Given the description of an element on the screen output the (x, y) to click on. 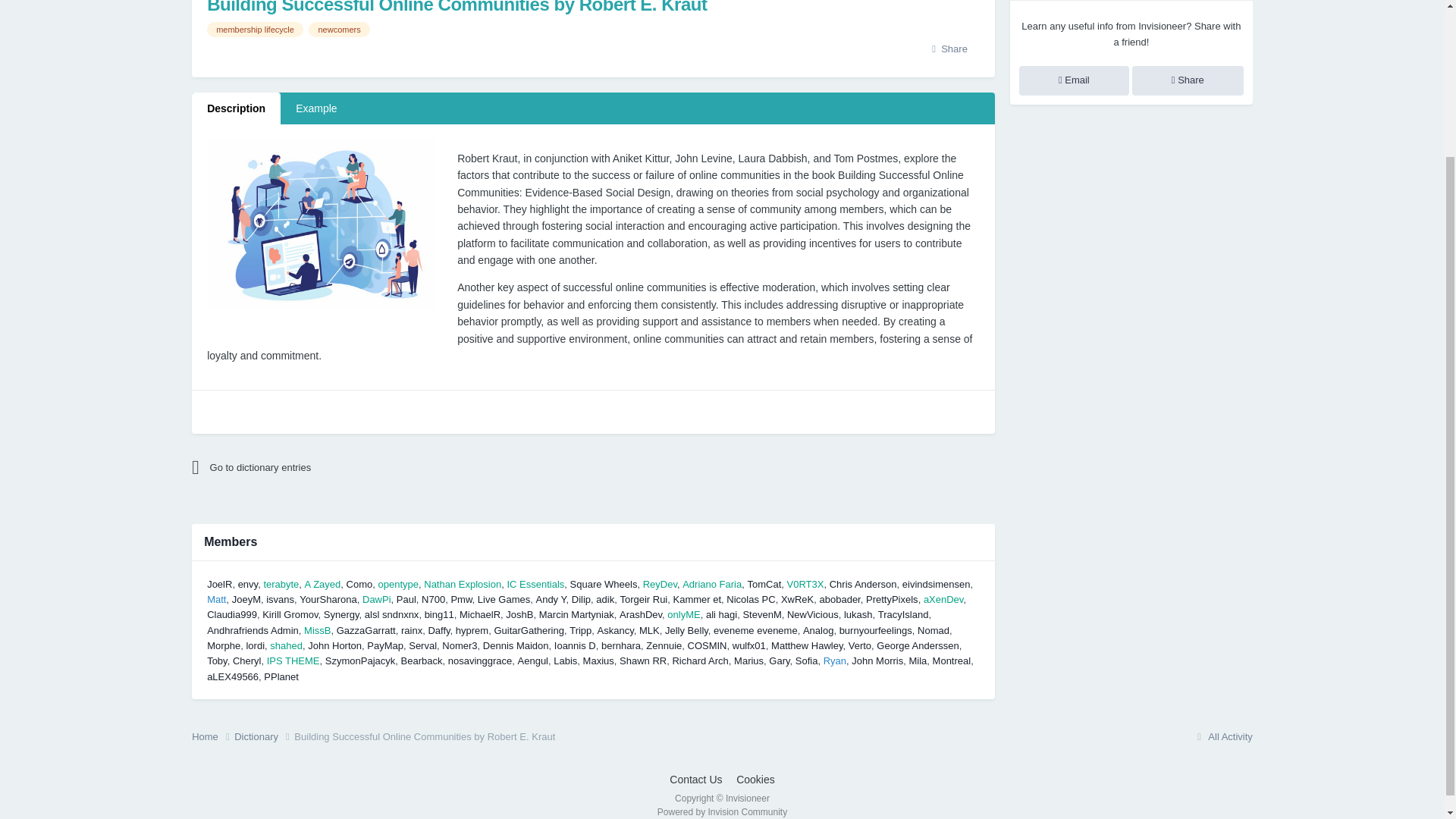
Go to A Zayed's profile (322, 583)
Go to JoelR's profile (218, 583)
Go to envy's profile (248, 583)
newcomers (338, 29)
Description (236, 108)
Go to opentype's profile (398, 583)
Go to Como's profile (359, 583)
Go to terabyte's profile (280, 583)
membership lifecycle (254, 29)
 Share (949, 48)
